Given the description of an element on the screen output the (x, y) to click on. 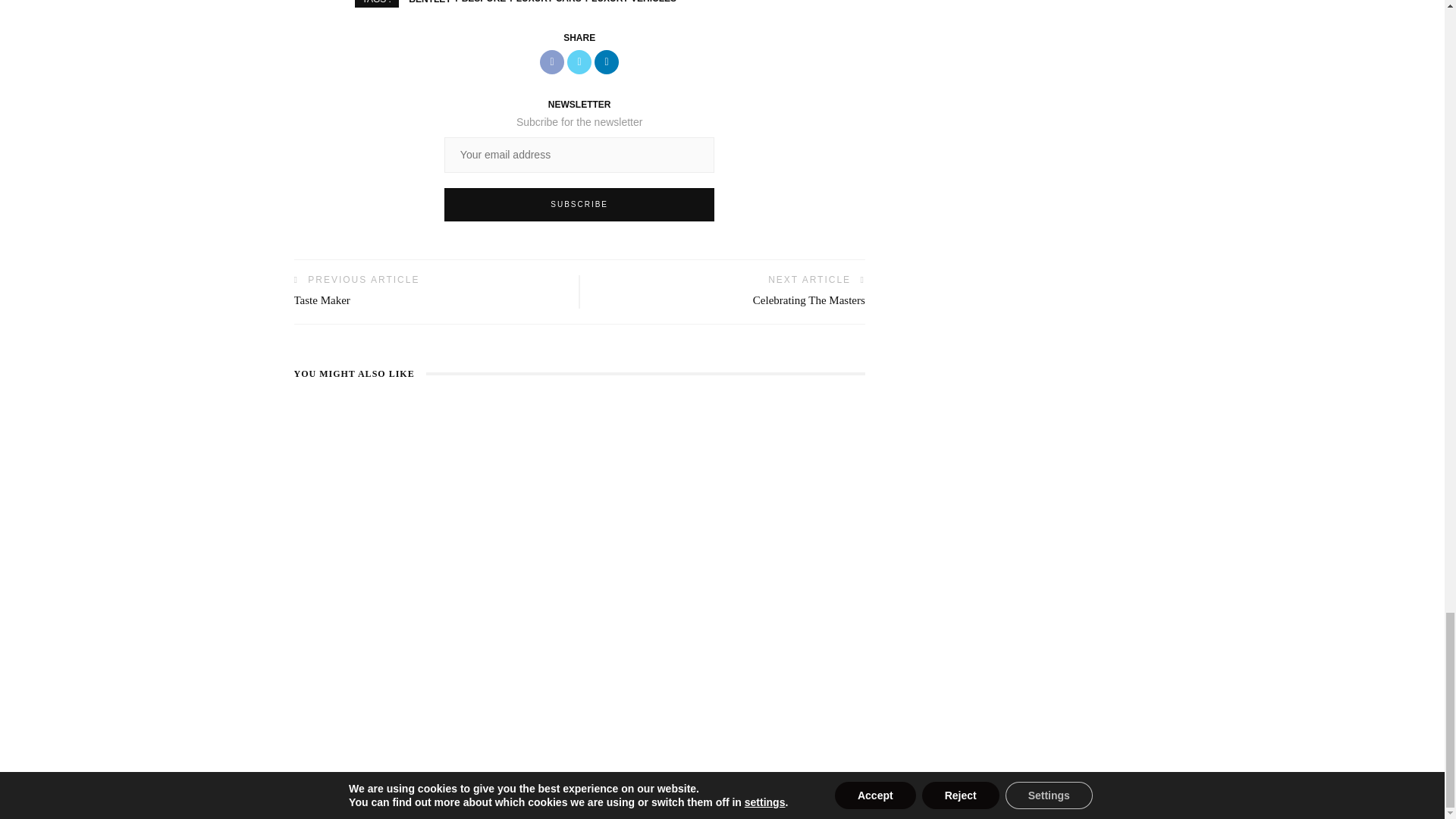
LUXURY CARS (542, 2)
Subscribe (579, 204)
BESPOKE (478, 2)
Luxury Vehicles (628, 2)
Taste Maker (322, 300)
LUXURY VEHICLES (628, 2)
Celebrating The Masters (808, 300)
Luxury Cars (542, 2)
Celebrating The Masters (808, 300)
BENTLEY (430, 2)
